Given the description of an element on the screen output the (x, y) to click on. 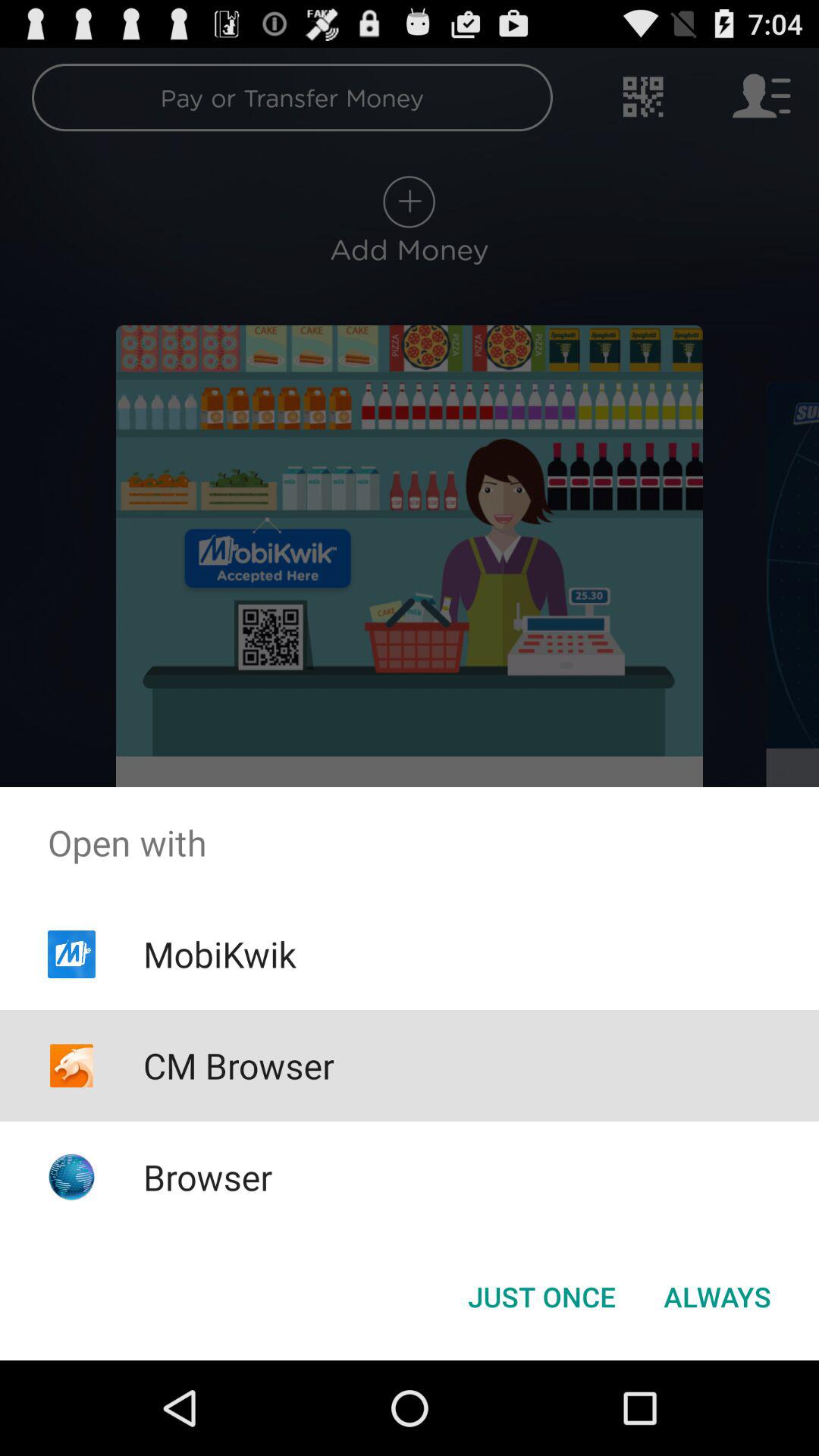
tap mobikwik app (219, 953)
